Given the description of an element on the screen output the (x, y) to click on. 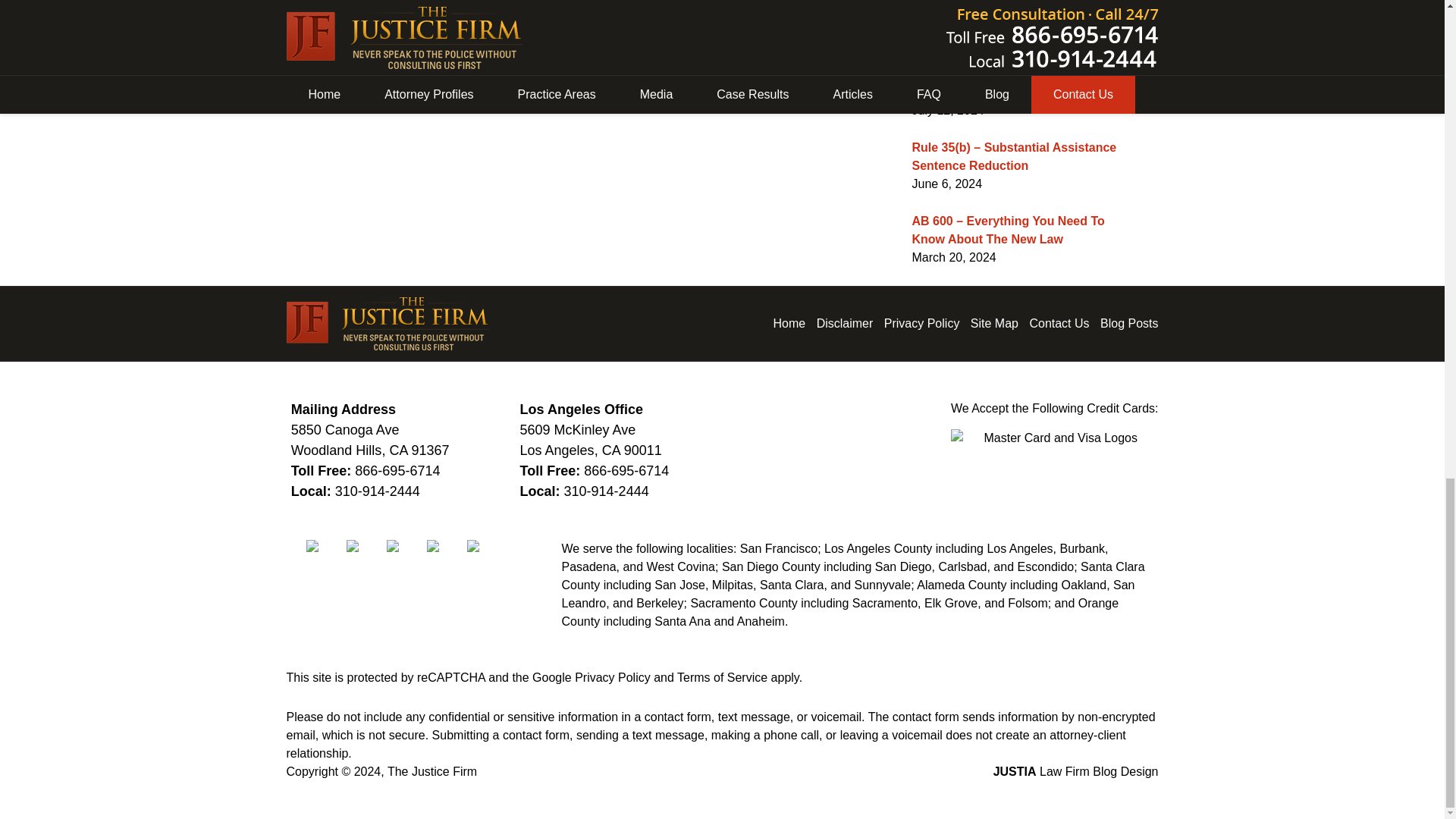
Facebook (323, 545)
Twitter (364, 545)
Feed (485, 545)
Justia (444, 545)
LinkedIn (405, 545)
